Given the description of an element on the screen output the (x, y) to click on. 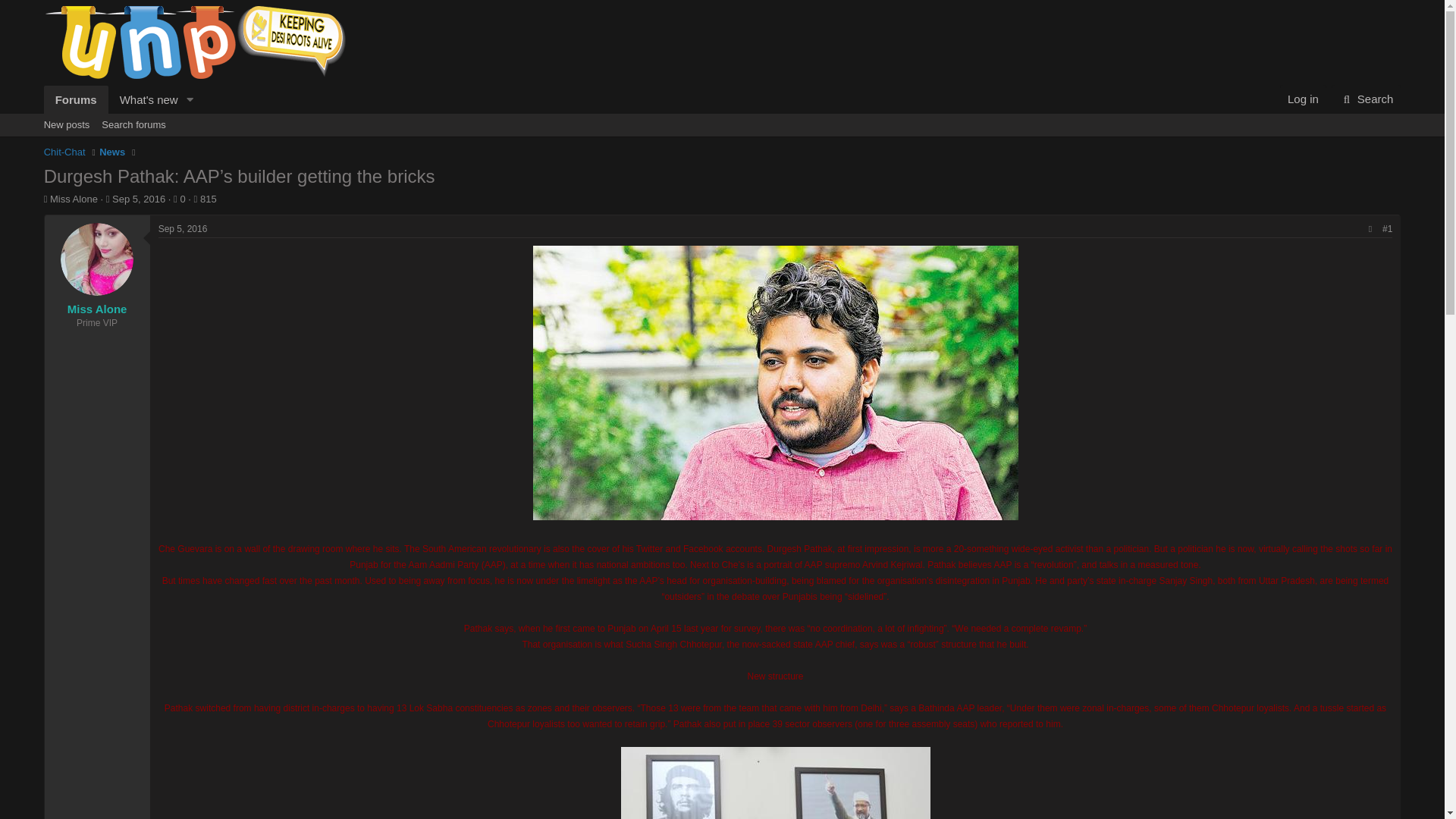
Search (1366, 99)
Forums (75, 99)
Sep 5, 2016 (183, 228)
Search forums (133, 124)
Miss Alone (97, 308)
Miss Alone (73, 198)
New posts (66, 124)
chandigarhseptemberseptemberdurgeshchand-2.jpg (775, 782)
Search (1366, 99)
Sep 5, 2016 at 12:09 PM (183, 228)
